Given the description of an element on the screen output the (x, y) to click on. 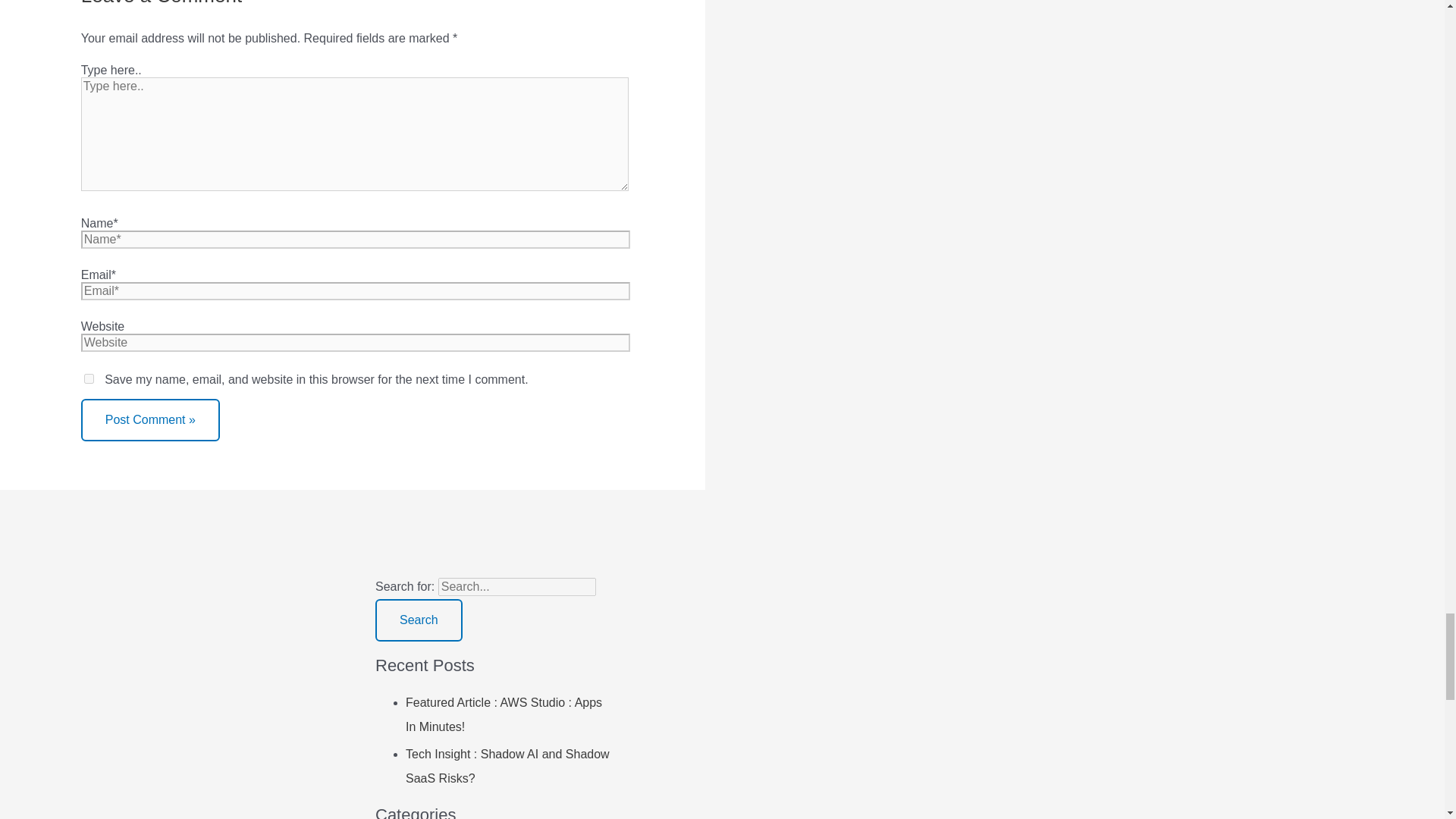
Search (419, 619)
yes (89, 378)
Search (419, 619)
